Given the description of an element on the screen output the (x, y) to click on. 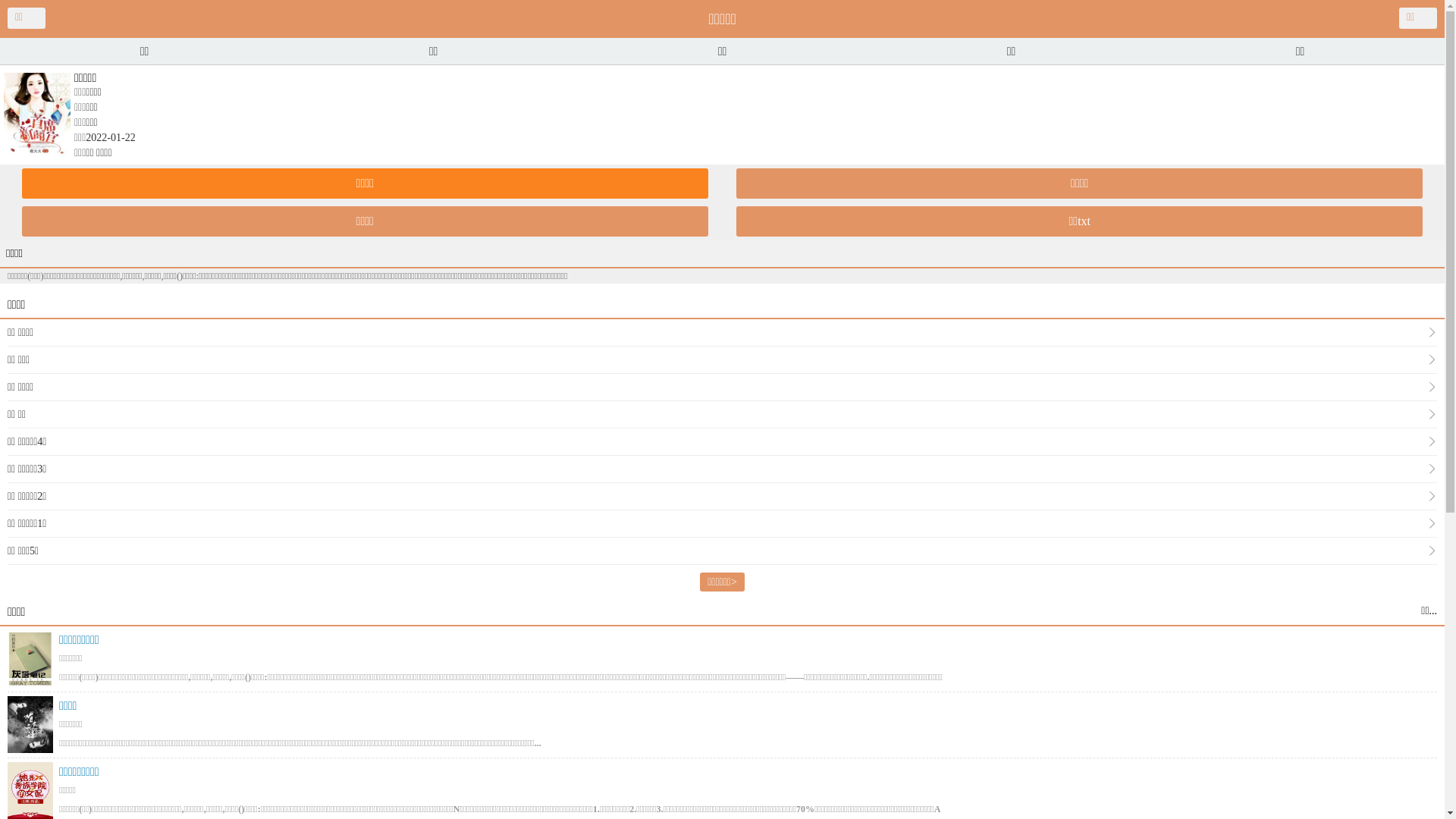
2022-01-22 Element type: text (109, 137)
